Given the description of an element on the screen output the (x, y) to click on. 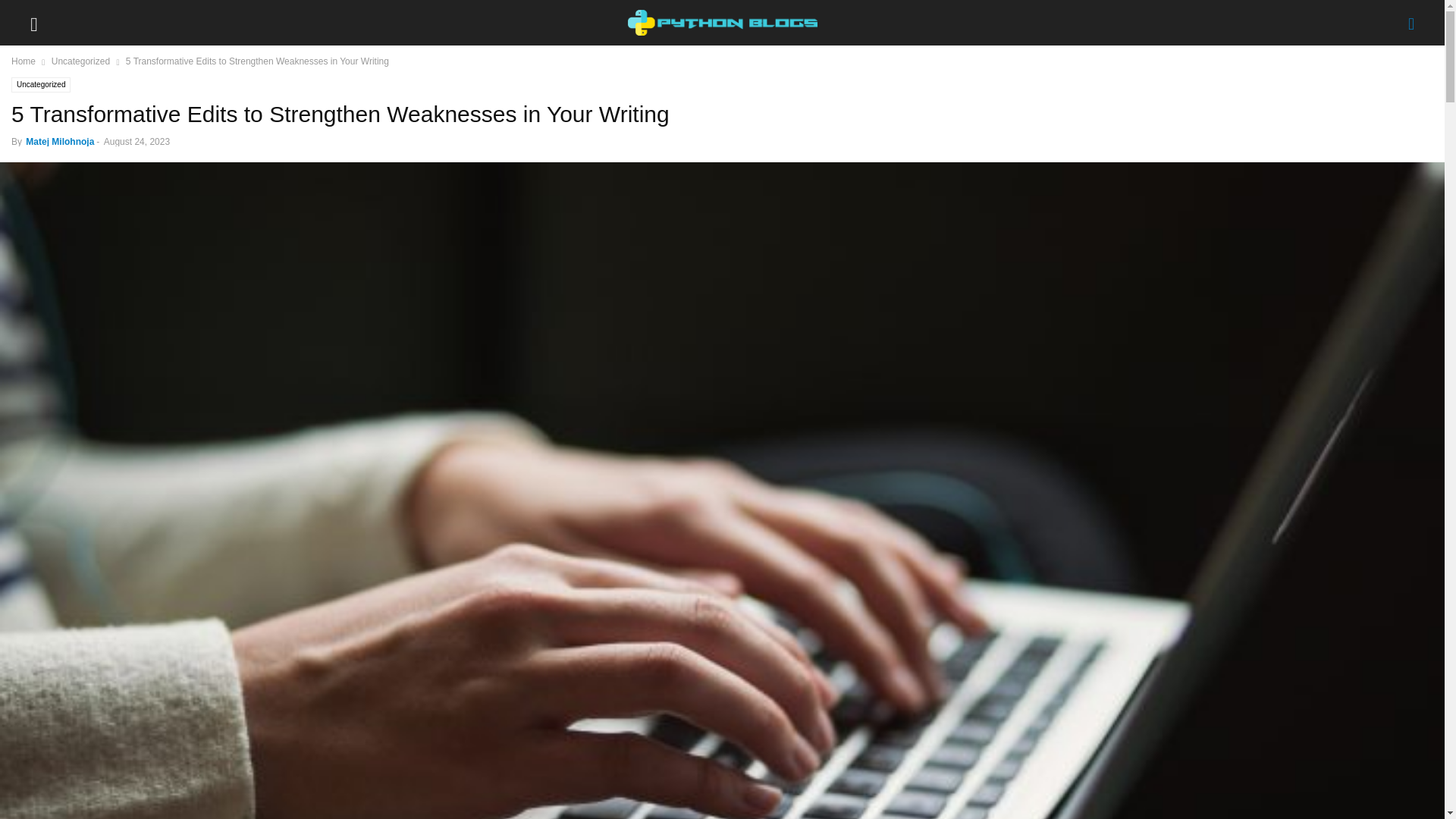
Search (26, 11)
Matej Milohnoja (60, 141)
Uncategorized (80, 61)
Home (22, 61)
Uncategorized (40, 84)
View all posts in Uncategorized (80, 61)
